Given the description of an element on the screen output the (x, y) to click on. 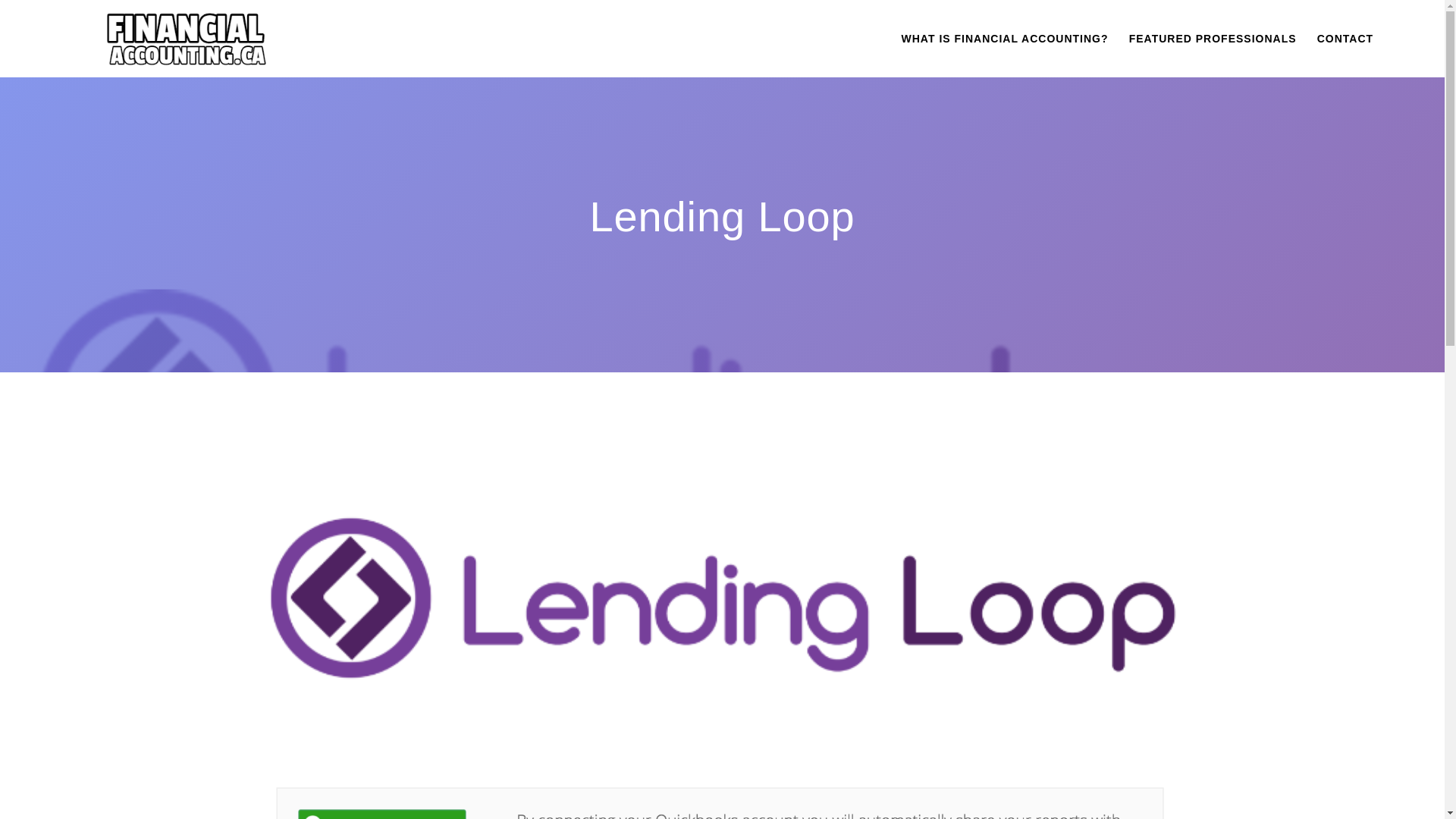
WHAT IS FINANCIAL ACCOUNTING? (1004, 38)
CONTACT (1345, 38)
FEATURED PROFESSIONALS (1213, 38)
